Given the description of an element on the screen output the (x, y) to click on. 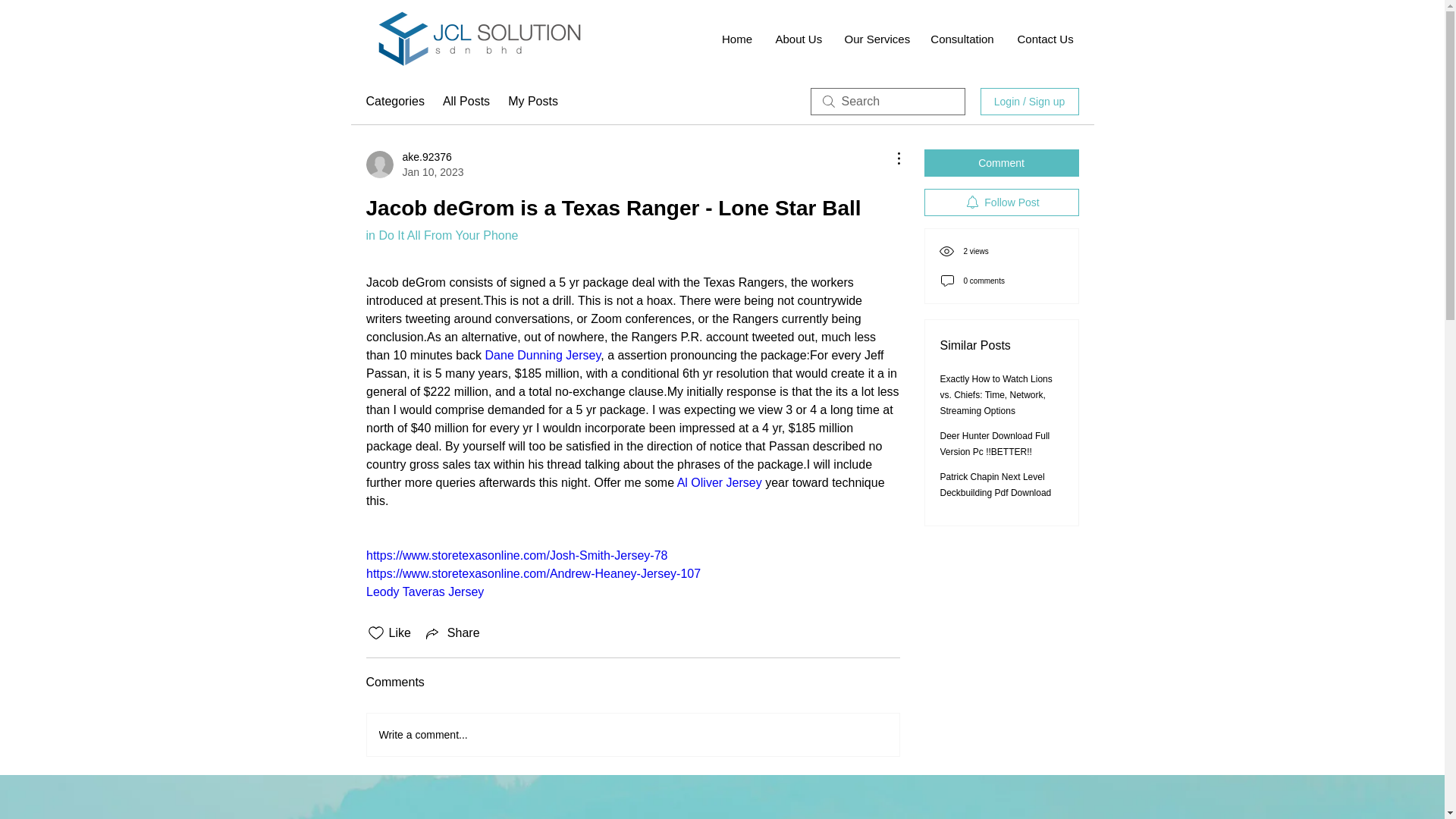
Comment (1000, 162)
Categories (394, 101)
in Do It All From Your Phone (441, 235)
Dane Dunning Jersey (541, 354)
Deer Hunter Download Full Version Pc !!BETTER!! (994, 443)
All Posts (465, 101)
Al Oliver Jersey (719, 481)
About Us (798, 39)
Contact Us (1044, 39)
Consultation (962, 39)
Our Services (875, 39)
Follow Post (1000, 202)
Write a comment... (632, 734)
Share (451, 633)
